Given the description of an element on the screen output the (x, y) to click on. 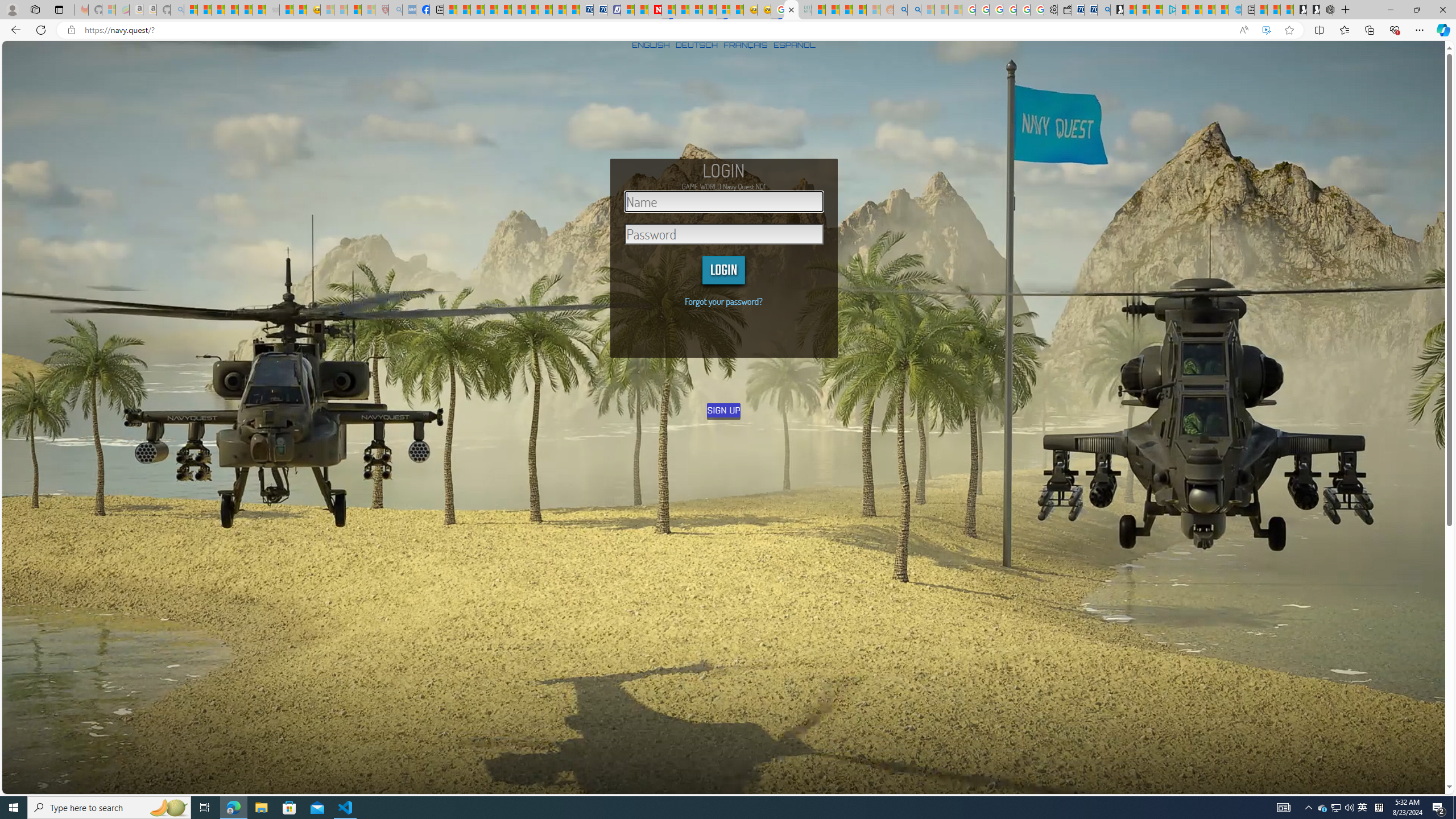
Latest Politics News & Archive | Newsweek.com (654, 9)
